Given the description of an element on the screen output the (x, y) to click on. 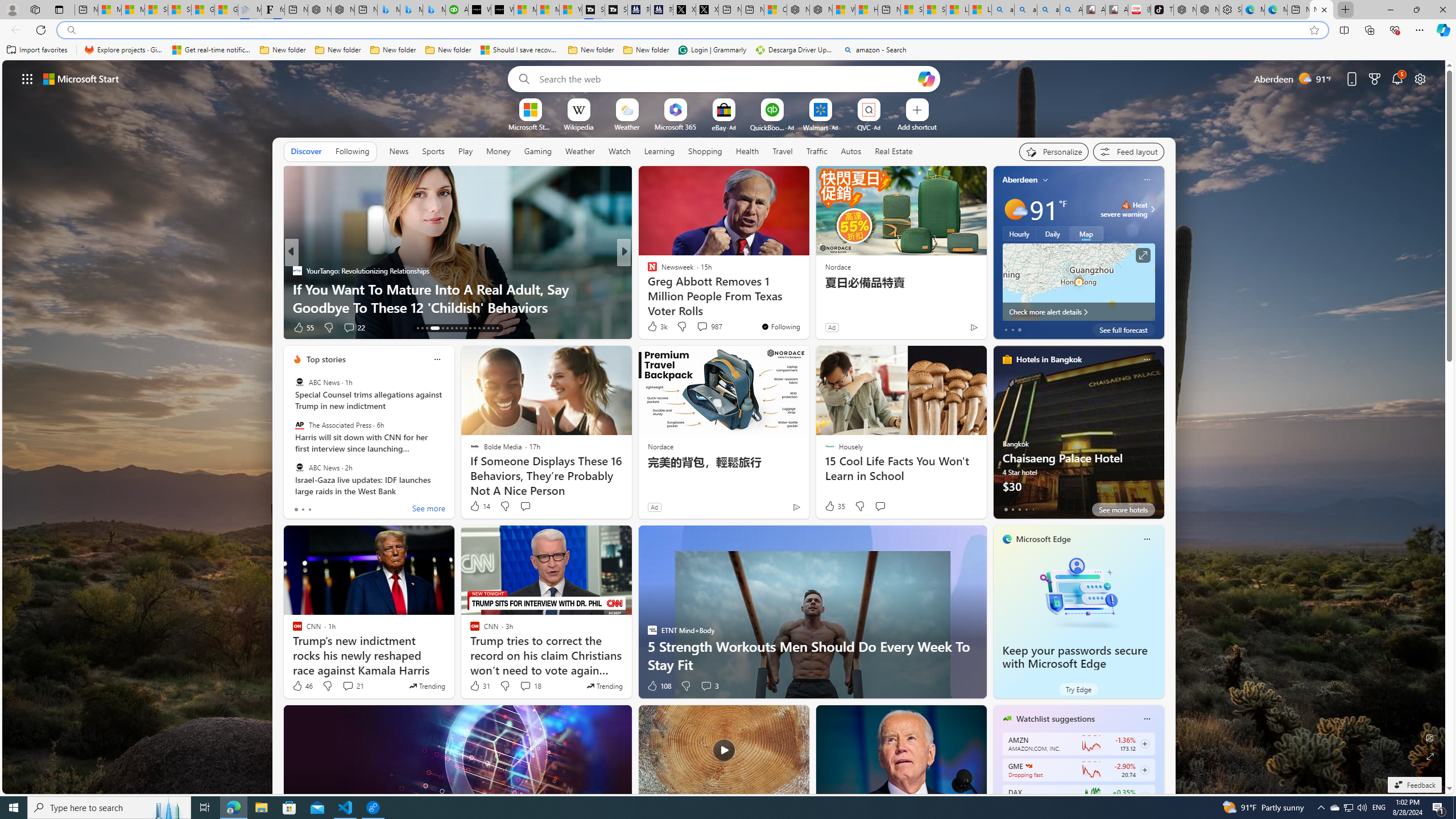
You're following FOX News (949, 329)
View comments 174 Comment (709, 327)
Housely (647, 270)
3k Like (656, 326)
Personalize your feed" (1054, 151)
Play (465, 151)
View comments 17 Comment (703, 327)
The Independent (647, 270)
Descarga Driver Updater (794, 49)
Learning (658, 151)
View comments 251 Comment (359, 327)
